Given the description of an element on the screen output the (x, y) to click on. 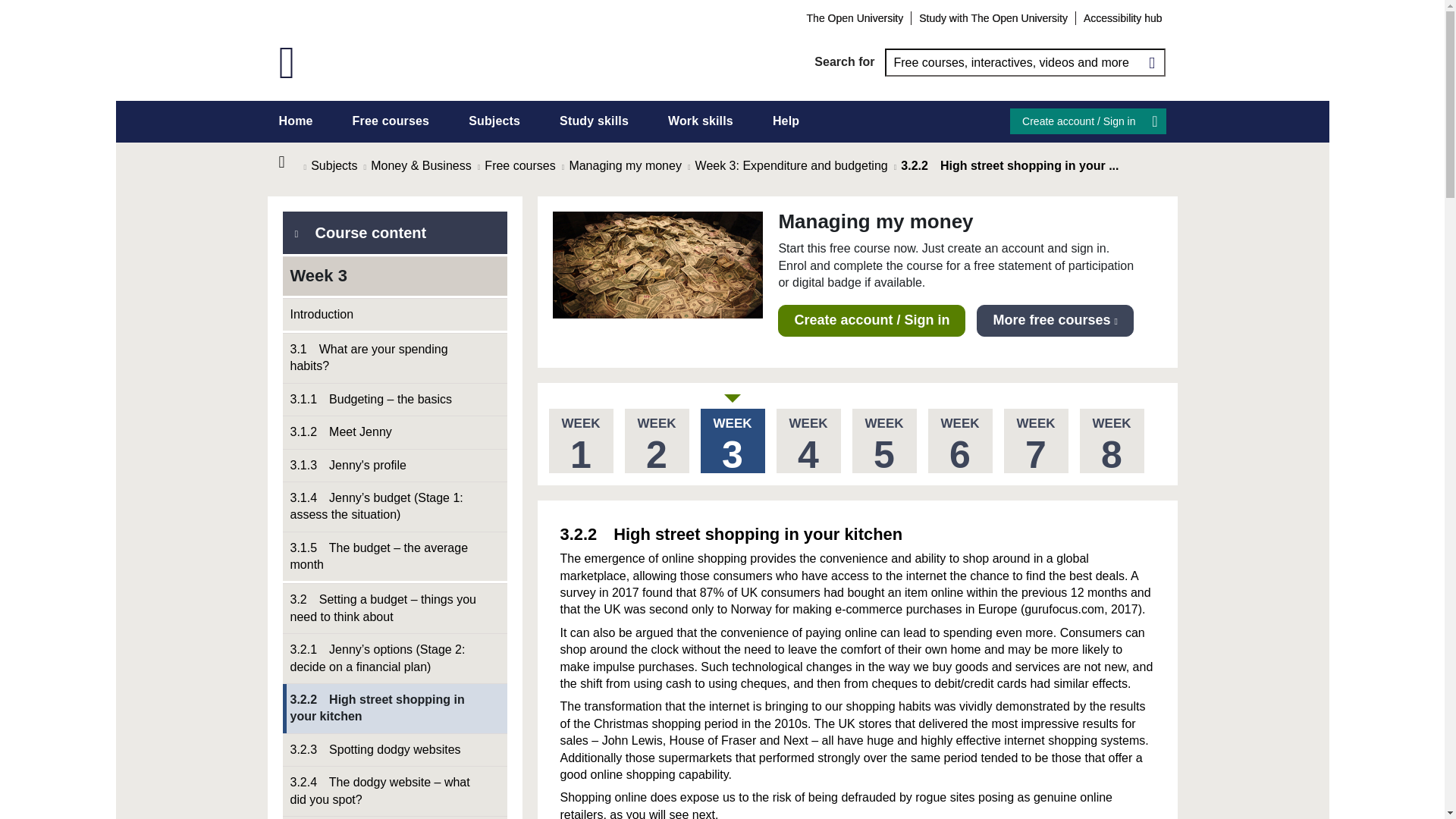
The Open University (855, 17)
Subjects (493, 120)
Search (1151, 62)
Study with The Open University (993, 17)
Study skills (593, 120)
Free courses (390, 120)
Home (291, 162)
Work skills (700, 120)
Help (786, 120)
Accessibility hub (1123, 17)
Home (296, 120)
